Given the description of an element on the screen output the (x, y) to click on. 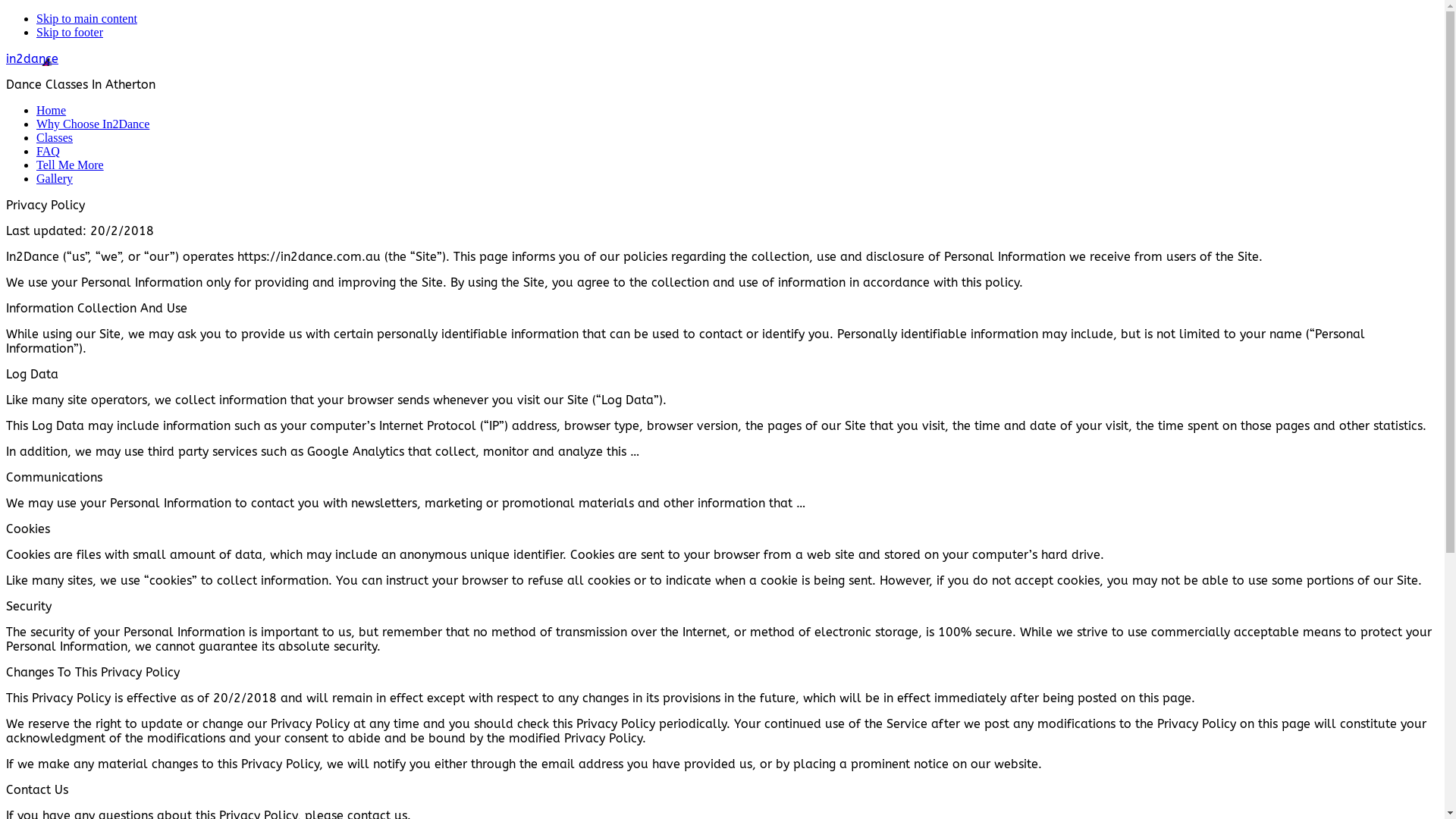
Home Element type: text (50, 109)
Tell Me More Element type: text (69, 164)
Why Choose In2Dance Element type: text (92, 123)
Gallery Element type: text (54, 178)
Classes Element type: text (54, 137)
Skip to main content Element type: text (86, 18)
FAQ Element type: text (47, 150)
Skip to footer Element type: text (69, 31)
in2dance Element type: text (32, 58)
